Given the description of an element on the screen output the (x, y) to click on. 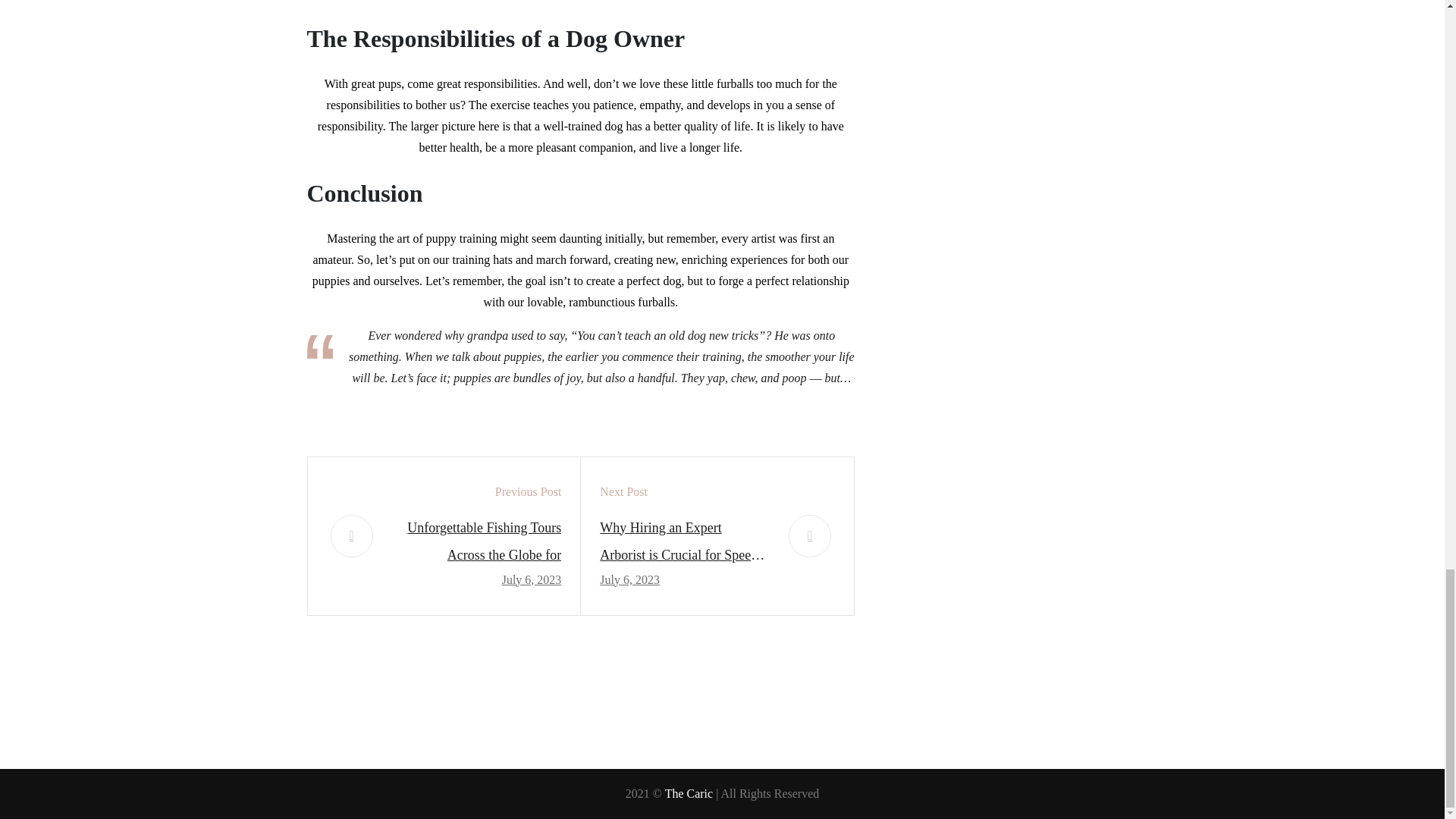
July 6, 2023 (629, 579)
July 6, 2023 (532, 579)
